Given the description of an element on the screen output the (x, y) to click on. 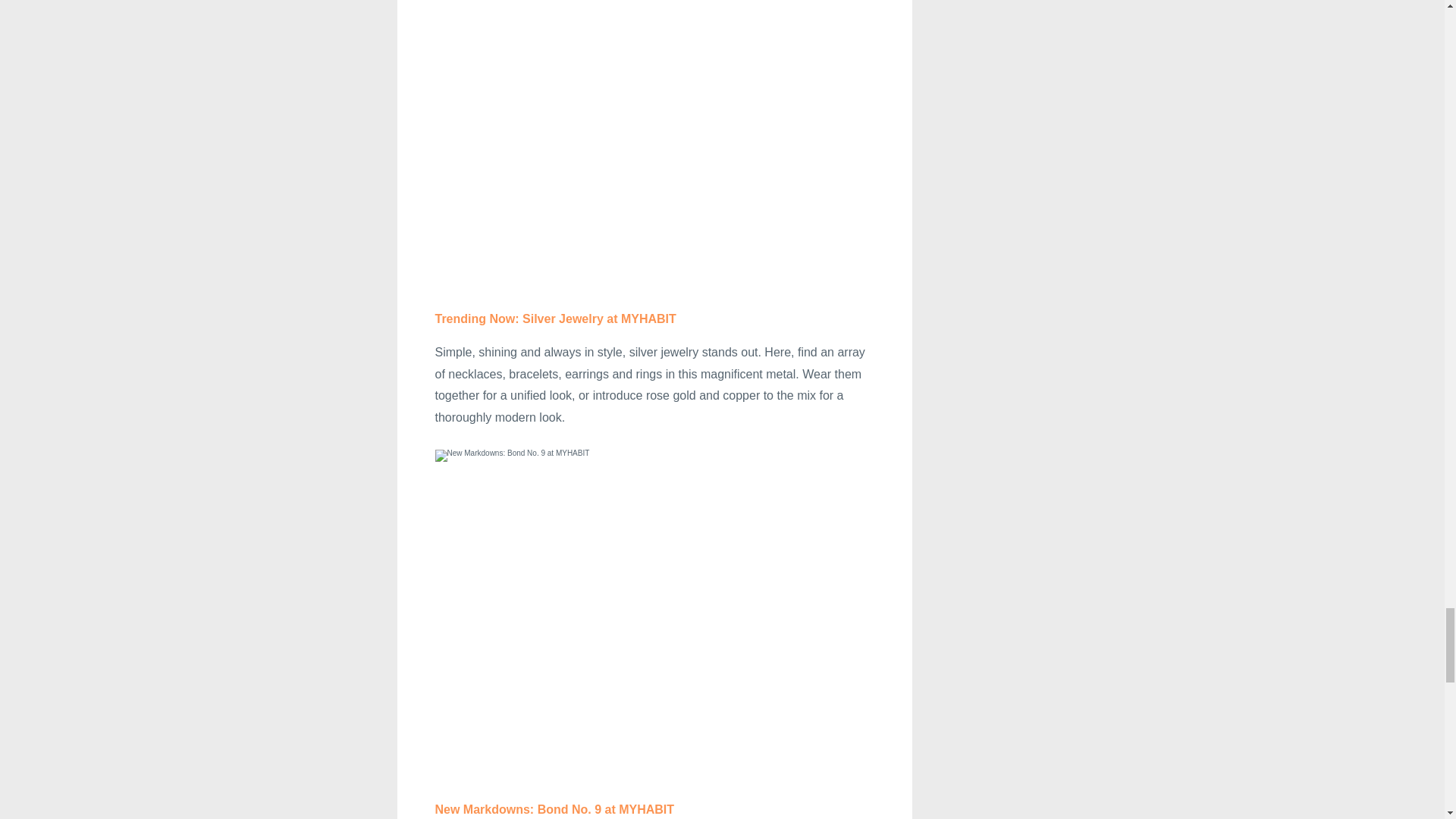
New Markdowns: Bond No. 9 at MYHABIT (555, 809)
Trending Now: Silver Jewelry at MYHABIT (556, 318)
